Given the description of an element on the screen output the (x, y) to click on. 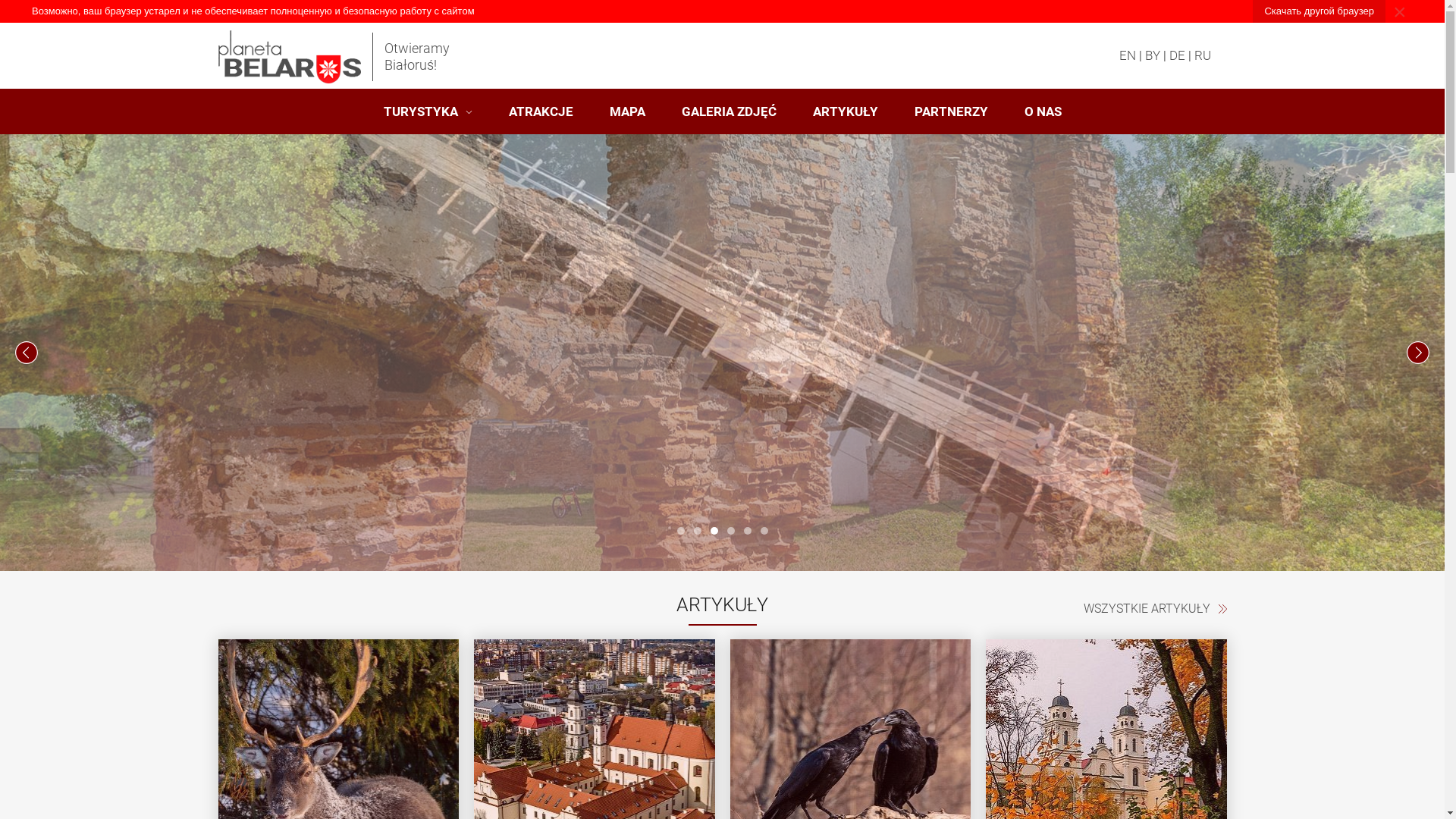
RU Element type: text (1201, 54)
ATRAKCJE Element type: text (539, 111)
TURYSTYKA Element type: text (427, 111)
MAPA Element type: text (627, 111)
BY Element type: text (1152, 54)
O NAS Element type: text (1042, 111)
DE Element type: text (1177, 54)
EN Element type: text (1127, 54)
PARTNERZY Element type: text (951, 111)
